Given the description of an element on the screen output the (x, y) to click on. 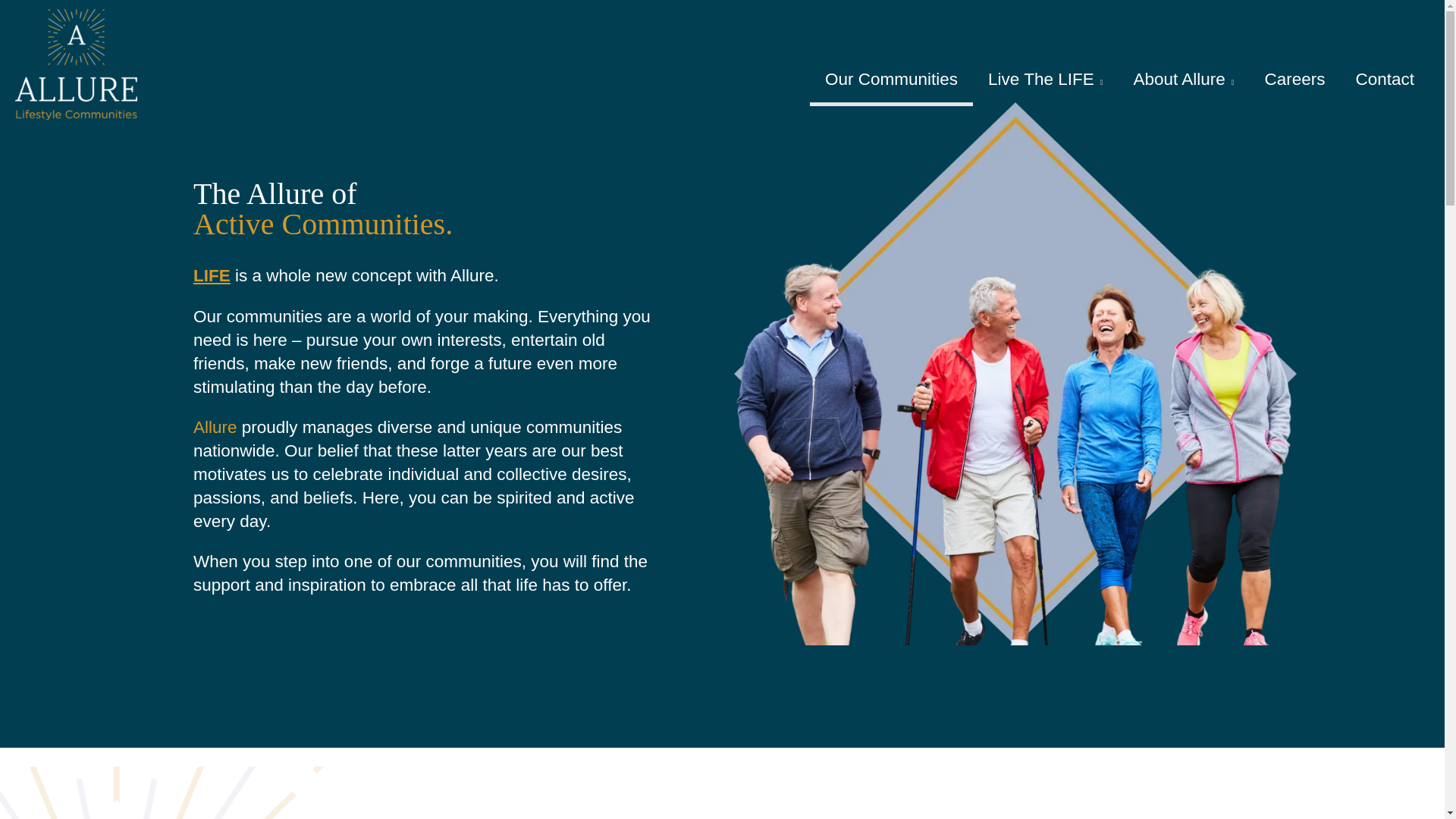
Contact (1384, 79)
Live The LIFE (1045, 79)
LIFE (211, 275)
Careers (1294, 79)
Our Communities (890, 79)
About Allure (1183, 79)
